Given the description of an element on the screen output the (x, y) to click on. 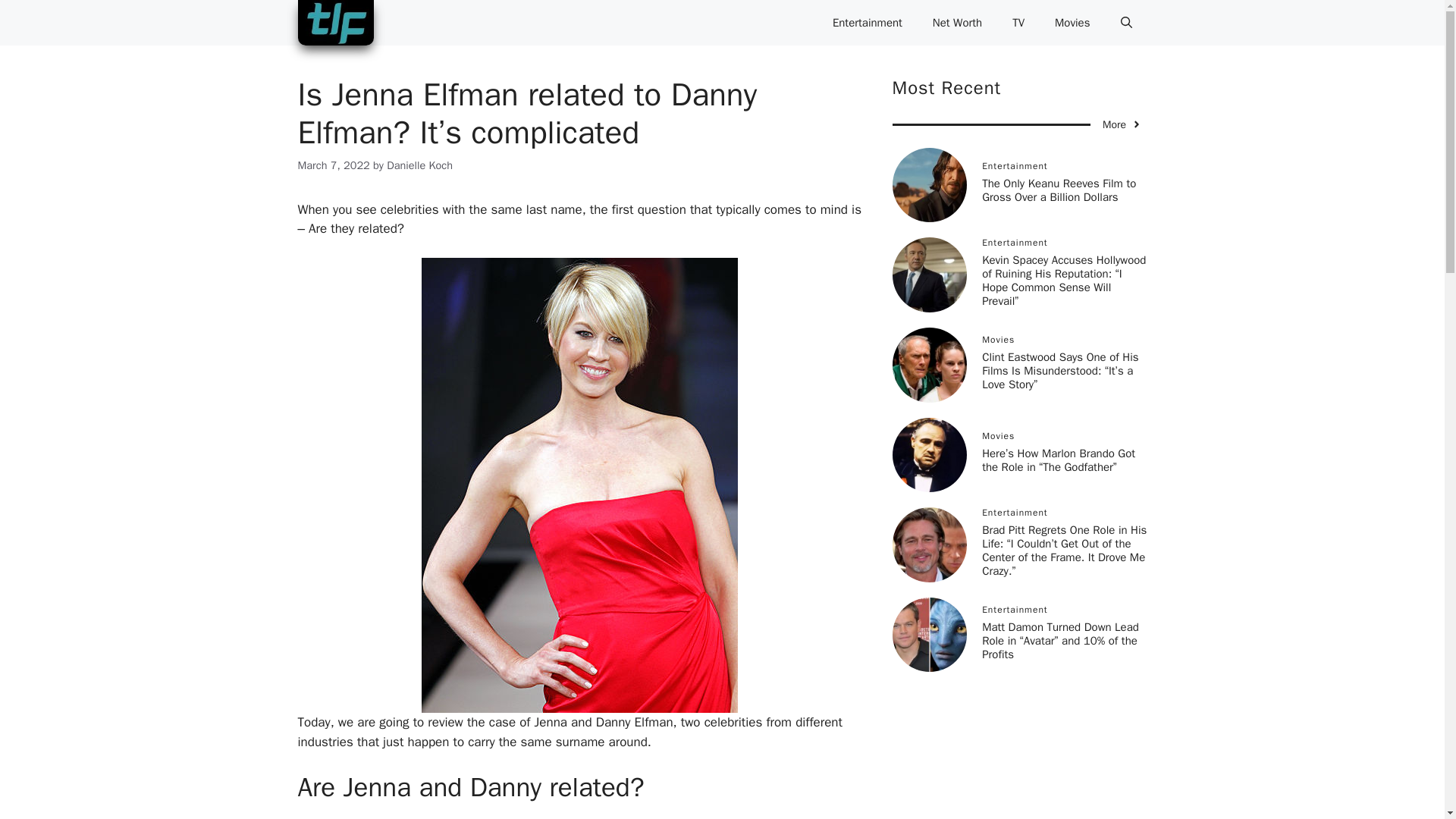
Danielle Koch (419, 164)
The Only Keanu Reeves Film to Gross Over a Billion Dollars (1058, 189)
Net Worth (957, 22)
TV (1018, 22)
Movies (1072, 22)
View all posts by Danielle Koch (419, 164)
More (1121, 124)
Entertainment (866, 22)
